Given the description of an element on the screen output the (x, y) to click on. 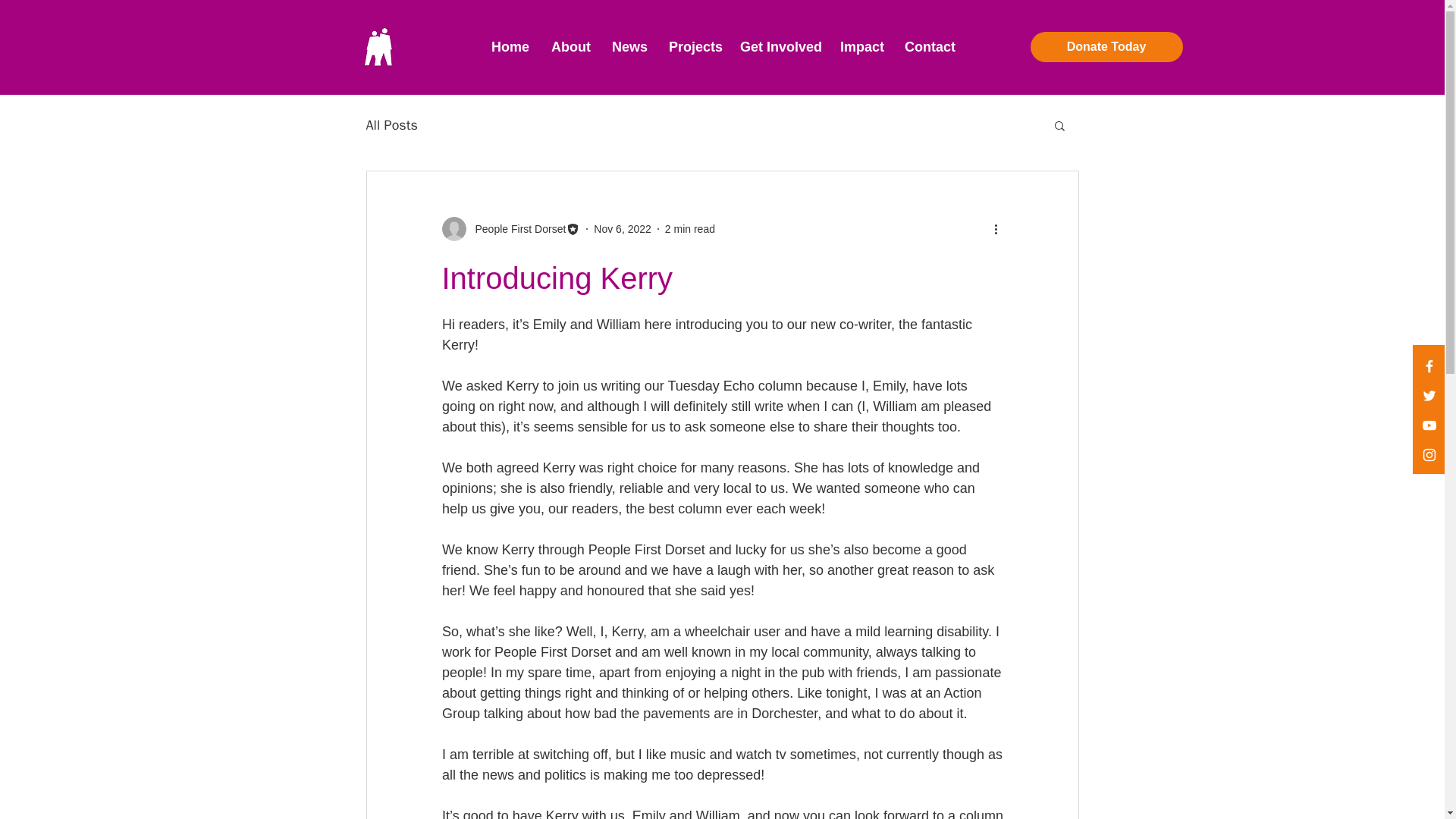
News (628, 47)
About (569, 47)
Home (510, 47)
Get Involved (778, 47)
Projects (693, 47)
Contact (928, 47)
People First Dorset (510, 228)
Nov 6, 2022 (622, 228)
Donate Today (1105, 46)
People First Dorset (515, 229)
All Posts (390, 125)
2 min read (689, 228)
Impact (860, 47)
